Given the description of an element on the screen output the (x, y) to click on. 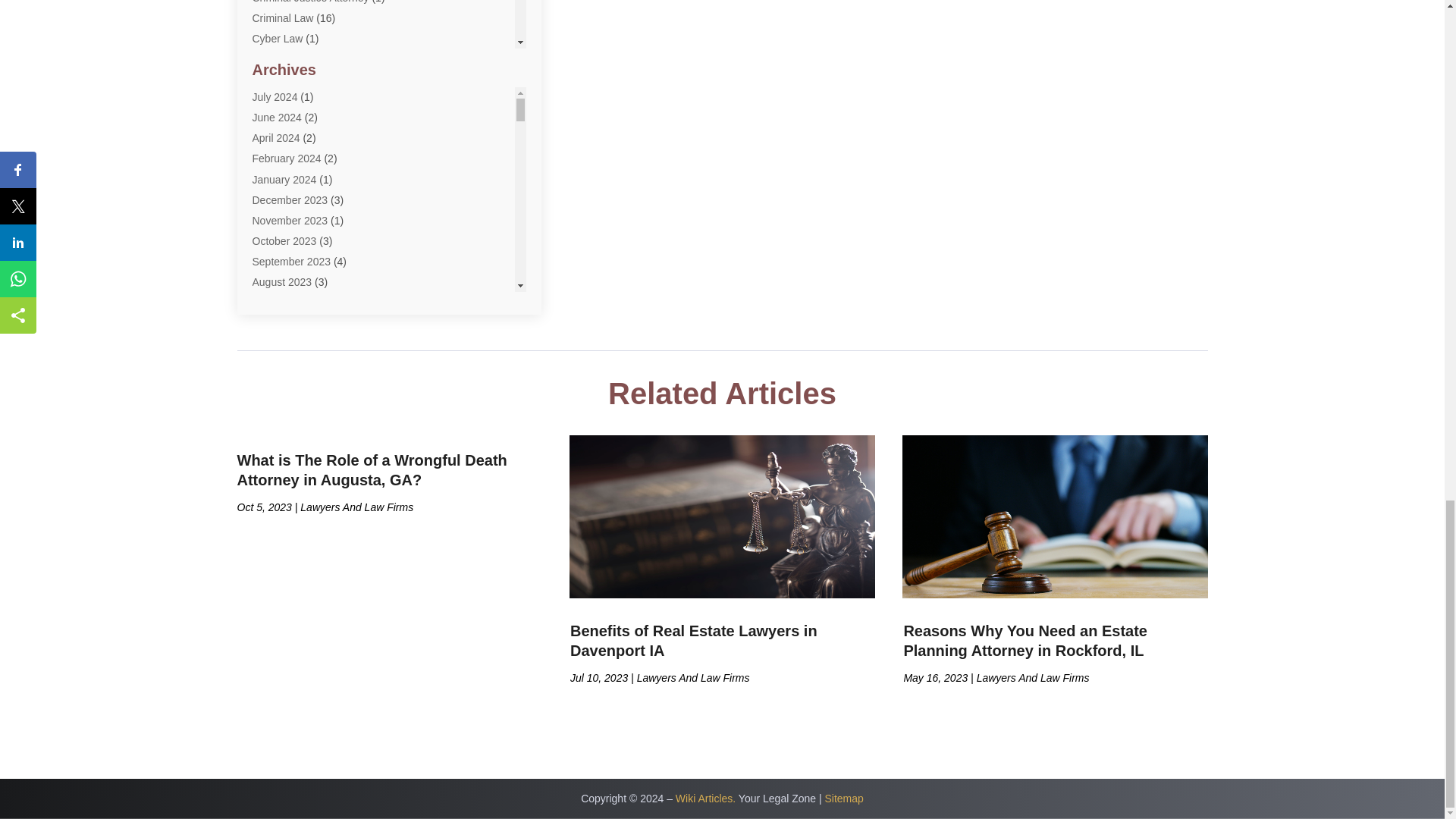
Divorce Service (288, 80)
Employment Law (292, 141)
General (270, 183)
DWI Lawyers (282, 121)
Dui Law Attorneys (294, 101)
Family Law (278, 162)
Cyber Law (276, 38)
Criminal Law (282, 18)
Divorce Lawyer (287, 60)
Criminal Justice Attorney (309, 2)
